Given the description of an element on the screen output the (x, y) to click on. 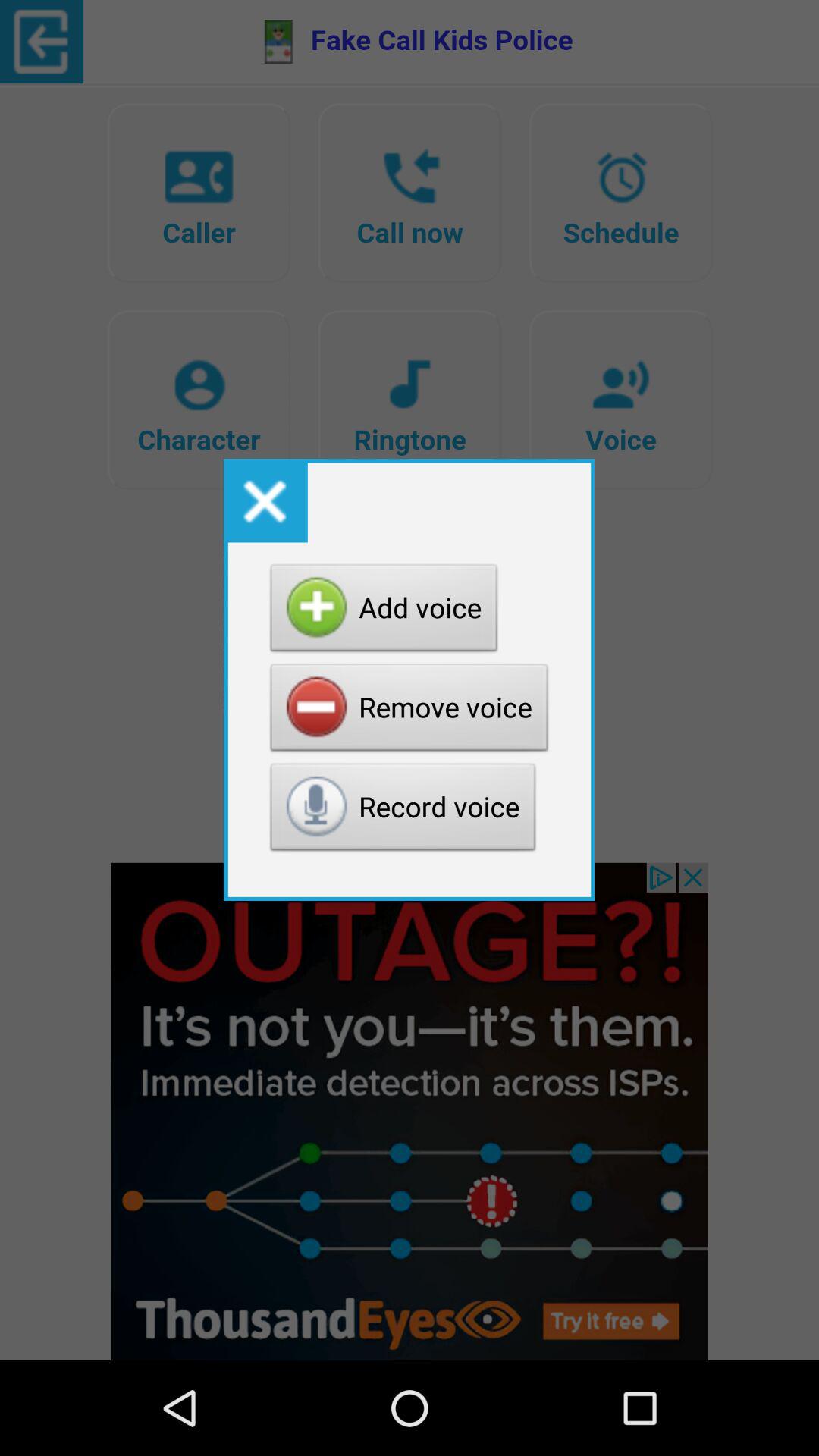
flip until record voice icon (402, 811)
